Given the description of an element on the screen output the (x, y) to click on. 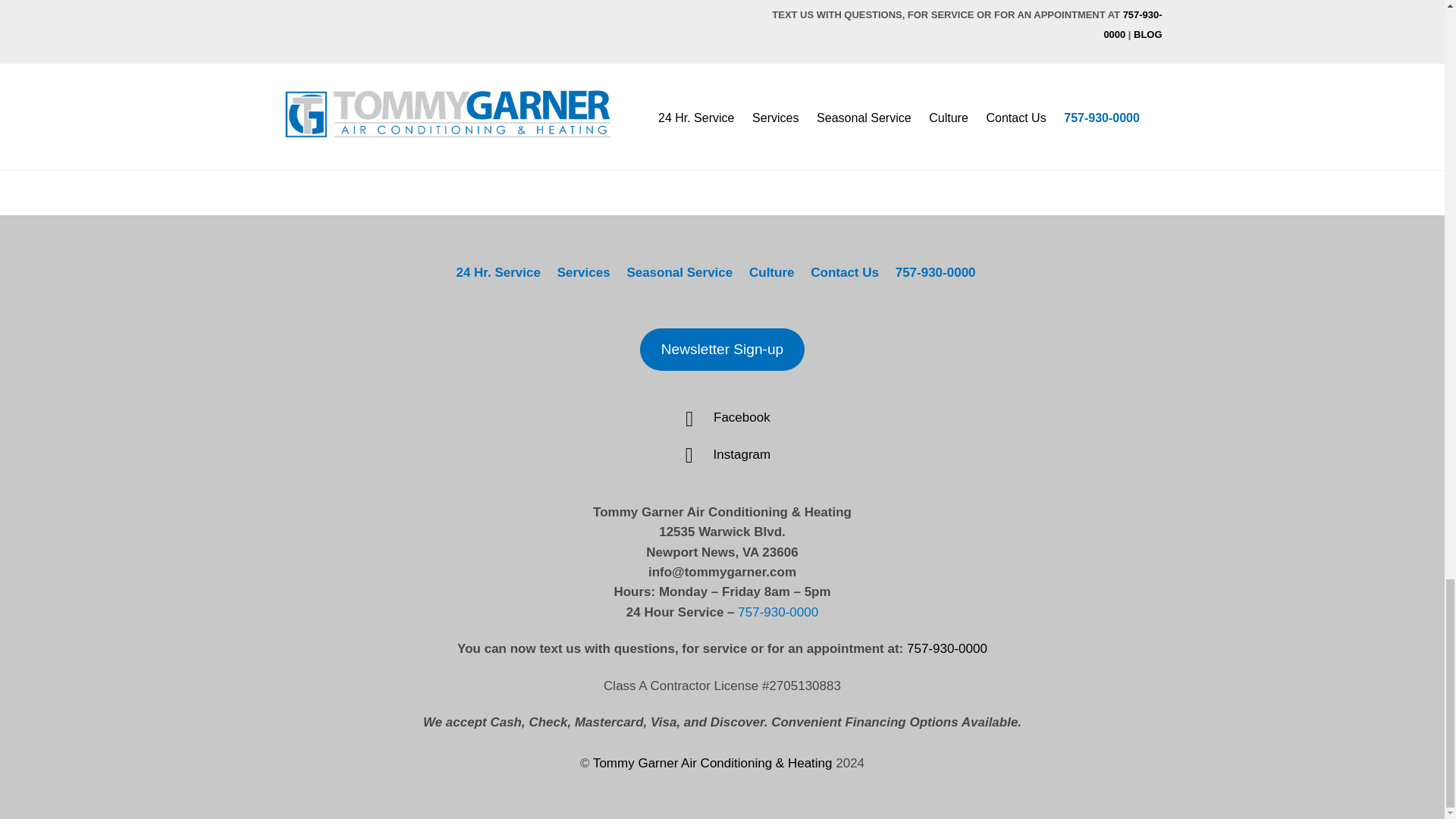
AIR QUALITY (309, 31)
Why you need a ductless mini split (806, 59)
AIR QUALITY (734, 31)
Benefits of a Smart Thermostat (558, 59)
COOLING (516, 31)
Benefits of a Smart Thermostat (558, 59)
HEATING (561, 31)
HEATING (411, 31)
